Given the description of an element on the screen output the (x, y) to click on. 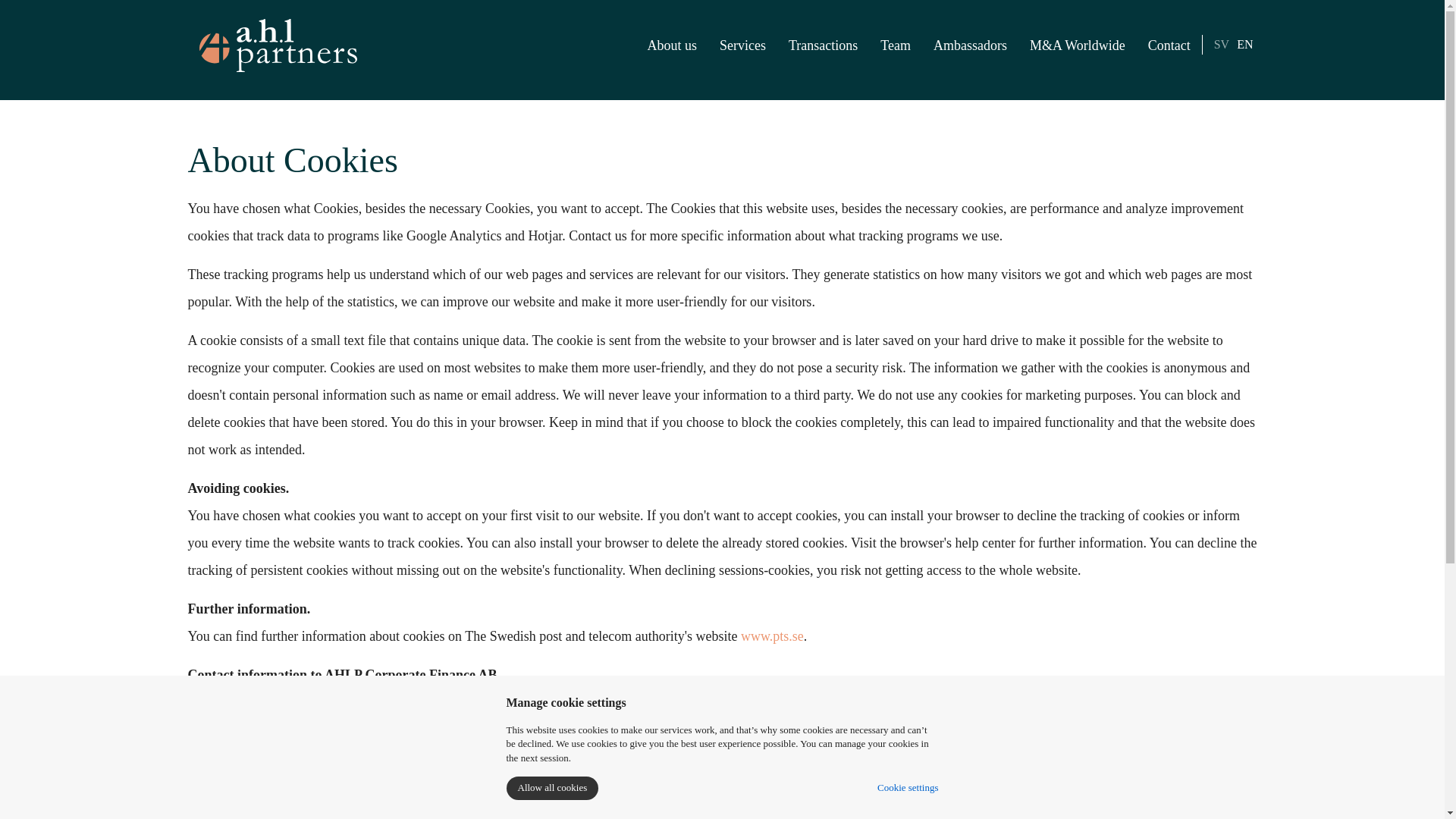
EN (1244, 44)
AHL Partners Corporate Finance (277, 45)
Transactions (823, 45)
SV (1221, 44)
Allow all cookies (552, 788)
www.pts.se (772, 635)
Ambassadors (969, 45)
